Given the description of an element on the screen output the (x, y) to click on. 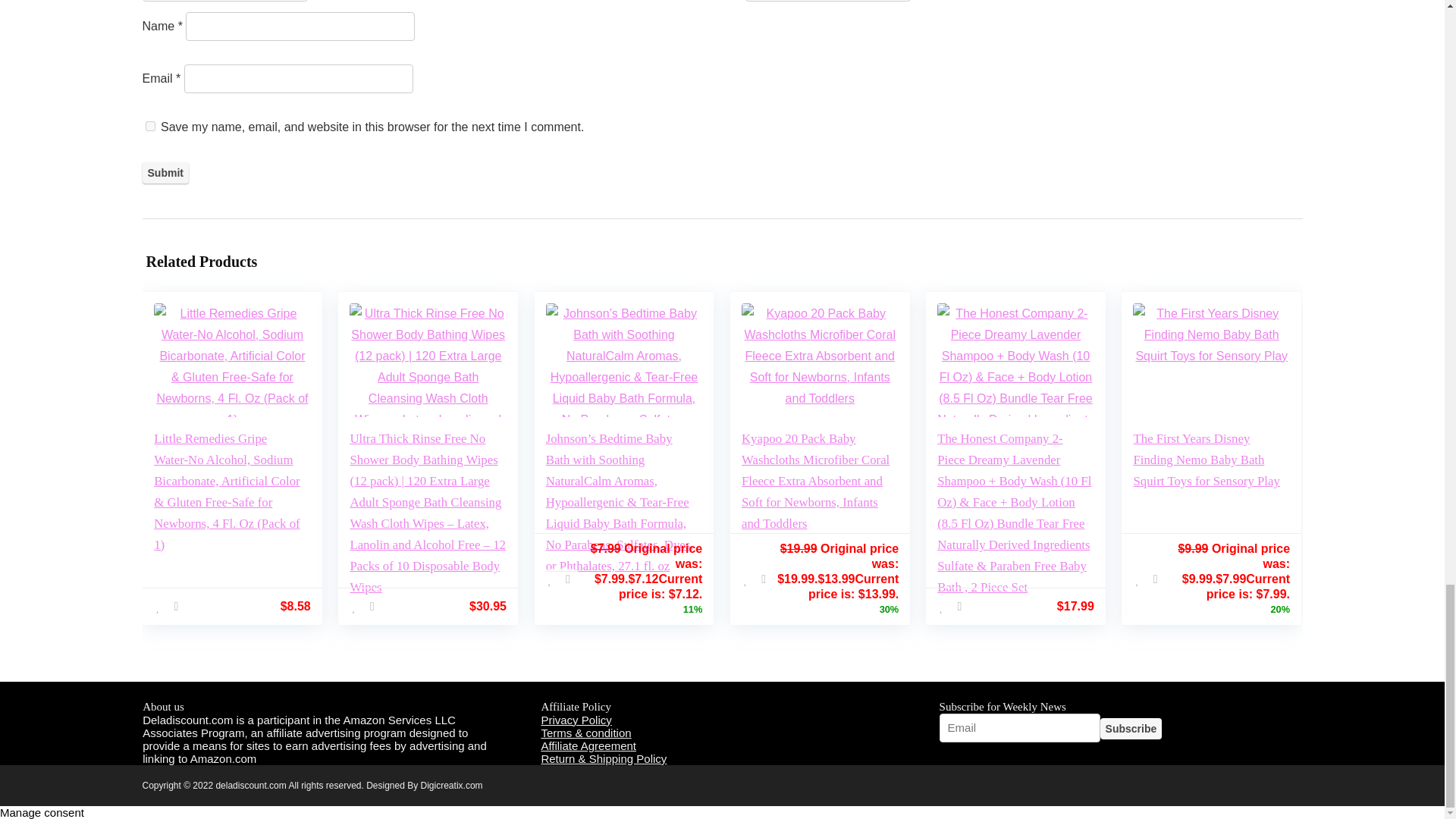
Submit (165, 172)
Subscribe (1130, 728)
yes (150, 126)
